Given the description of an element on the screen output the (x, y) to click on. 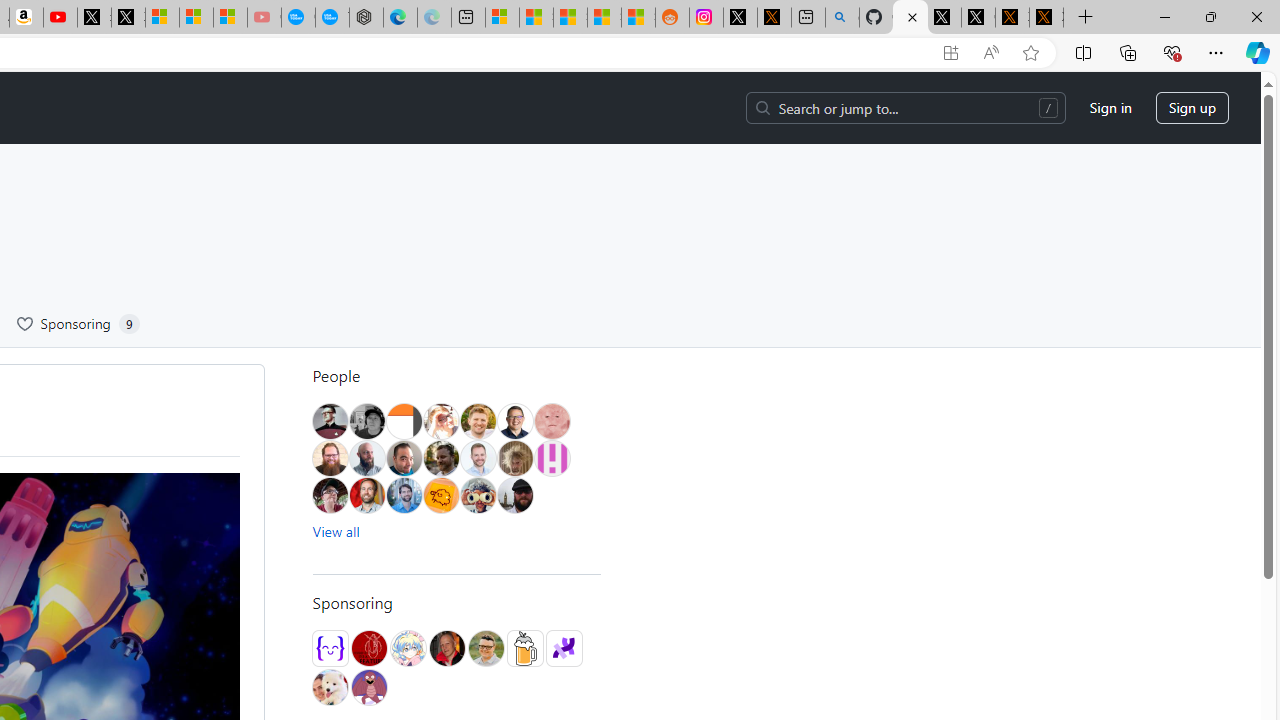
Sponsoring 9 (77, 323)
@tma (477, 457)
@kdaigle (514, 421)
@tannerlinsley (486, 648)
@dcreager (330, 495)
@nathos (404, 457)
@kdaigle (514, 421)
@zx2c4 (368, 687)
@mtodd (330, 421)
@processing (564, 648)
@skalnik (551, 421)
